Given the description of an element on the screen output the (x, y) to click on. 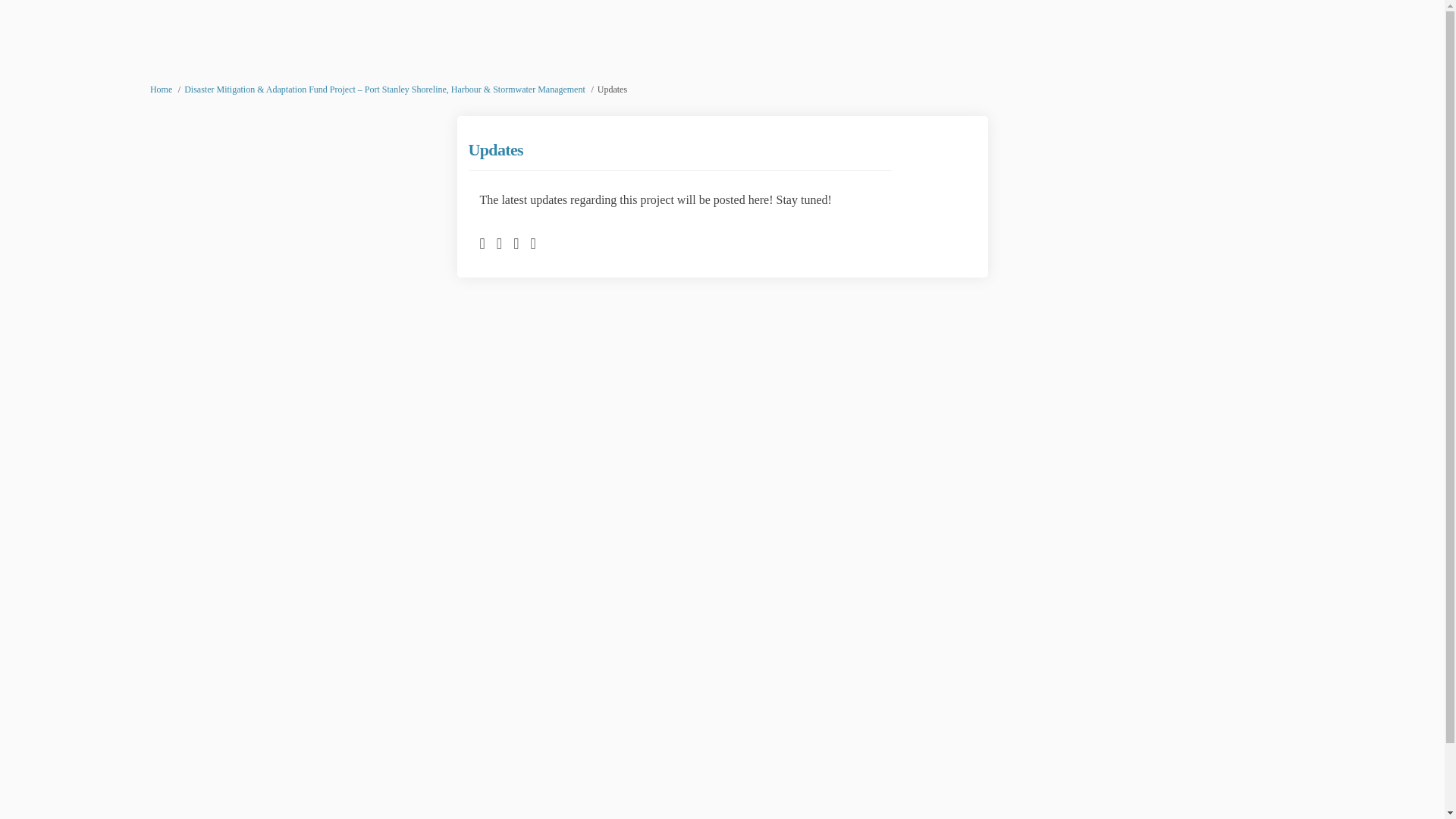
Home (160, 89)
